Given the description of an element on the screen output the (x, y) to click on. 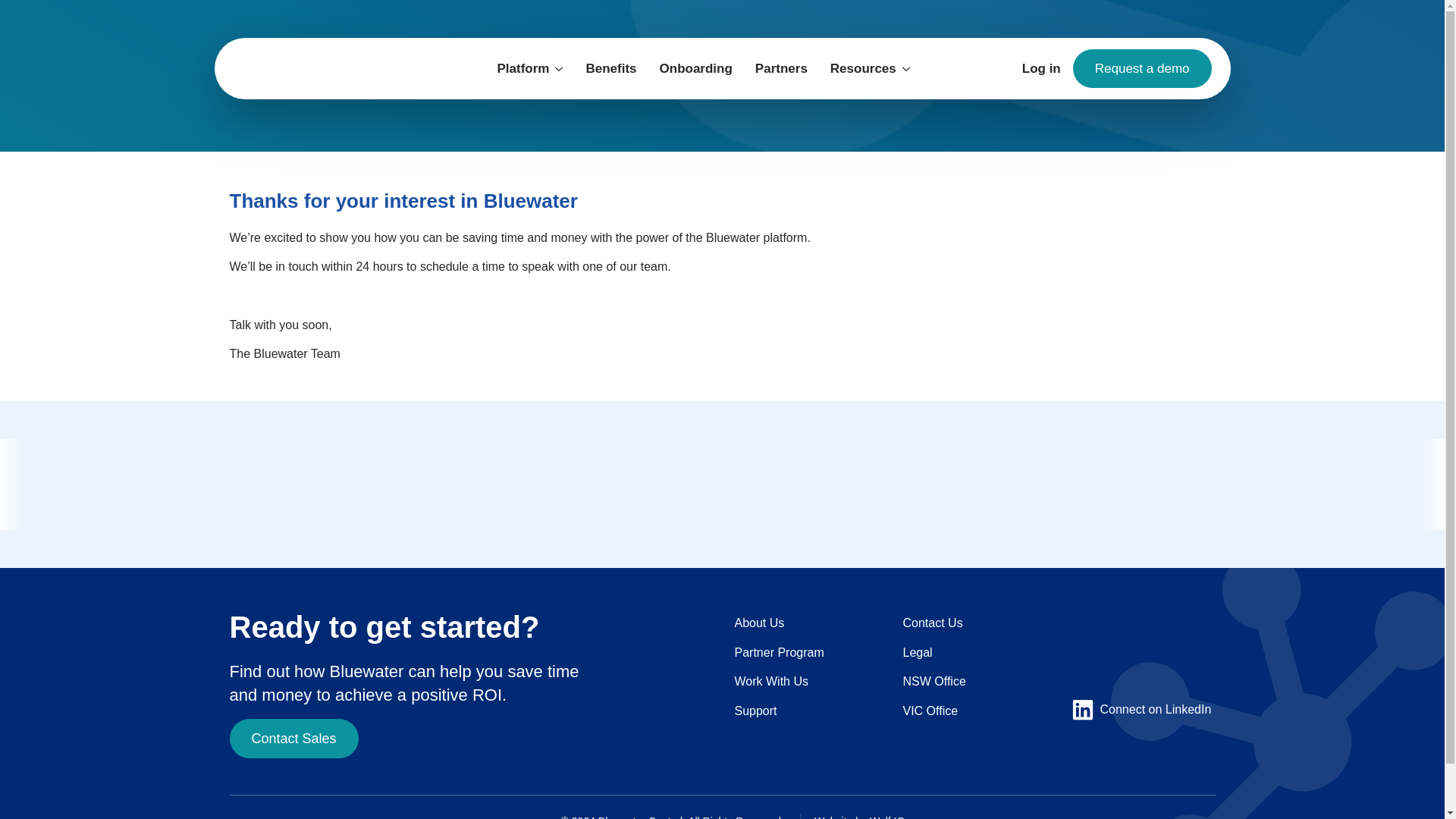
Legal (916, 653)
Partners (781, 68)
Benefits (610, 68)
Contact Sales (293, 738)
Partner Program (778, 653)
Resources (857, 68)
Support (754, 711)
About Us (758, 623)
VIC Office (930, 711)
NSW Office (933, 681)
Work With Us (770, 681)
Contact Us (932, 623)
Platform (516, 68)
Connect on LinkedIn (1140, 709)
Onboarding (695, 68)
